Given the description of an element on the screen output the (x, y) to click on. 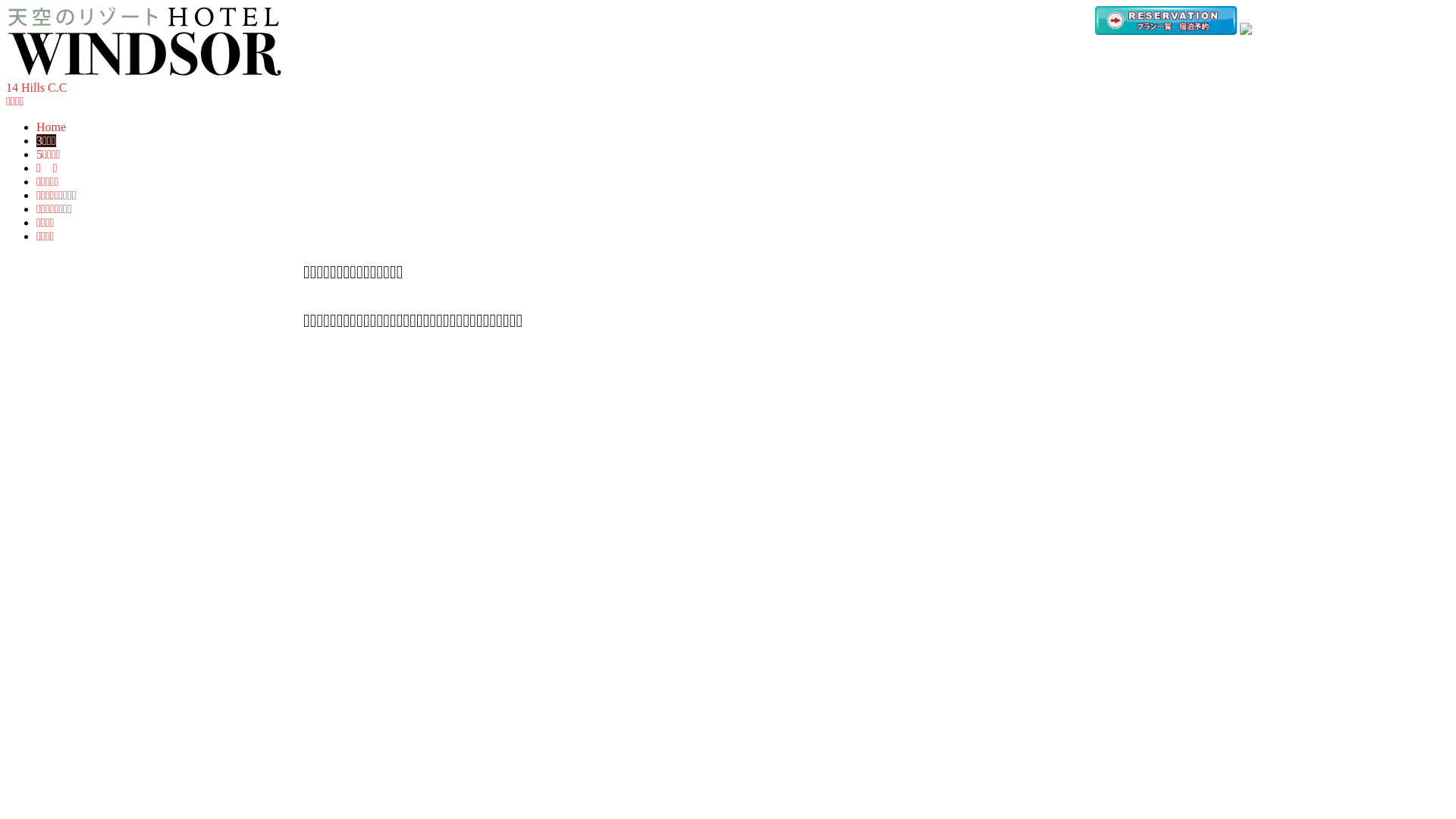
Home Element type: text (50, 126)
14 Hills C.C Element type: text (36, 87)
